Given the description of an element on the screen output the (x, y) to click on. 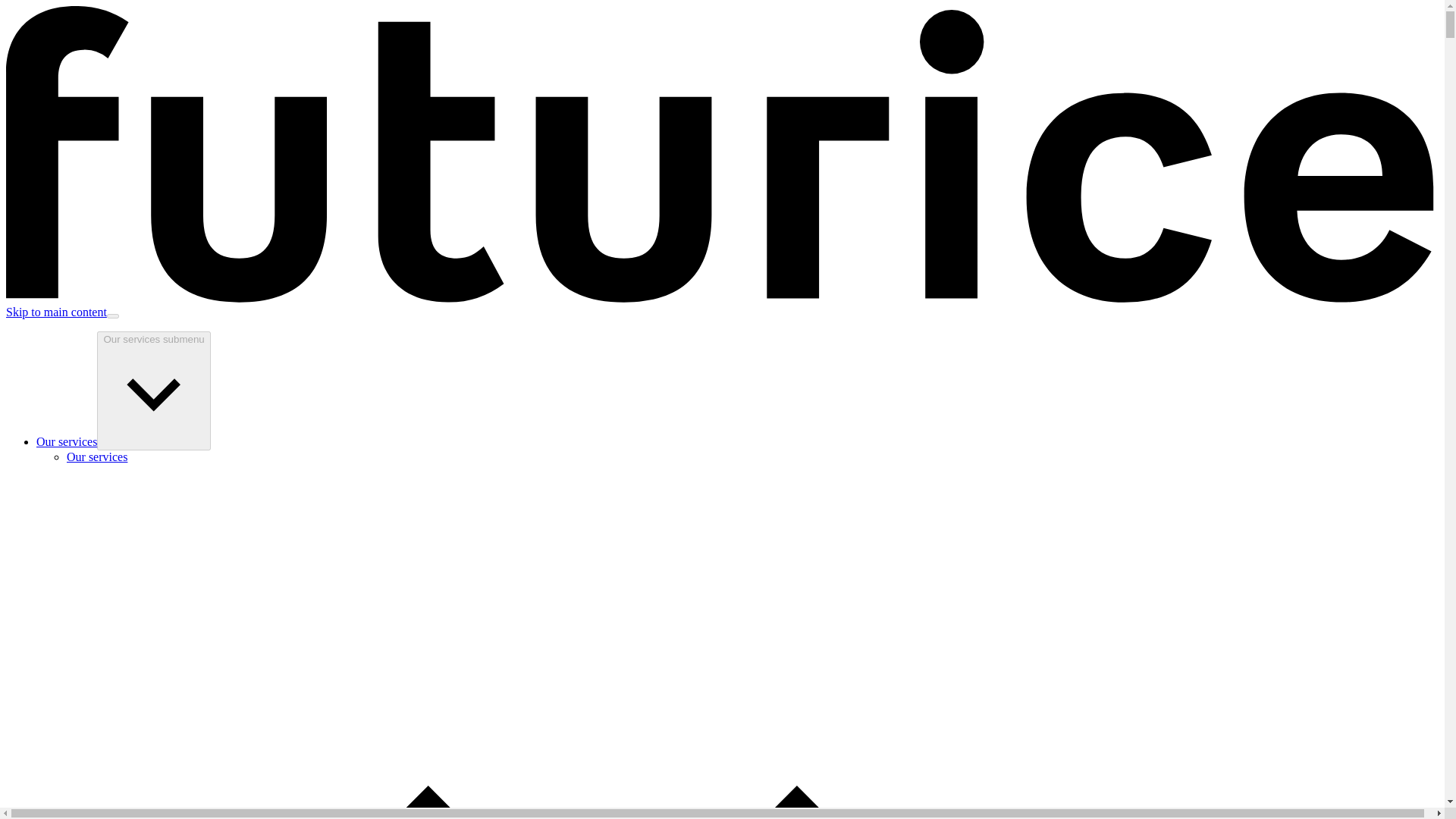
Our services (66, 440)
Our services submenu (153, 390)
Skip to main content (55, 311)
